Given the description of an element on the screen output the (x, y) to click on. 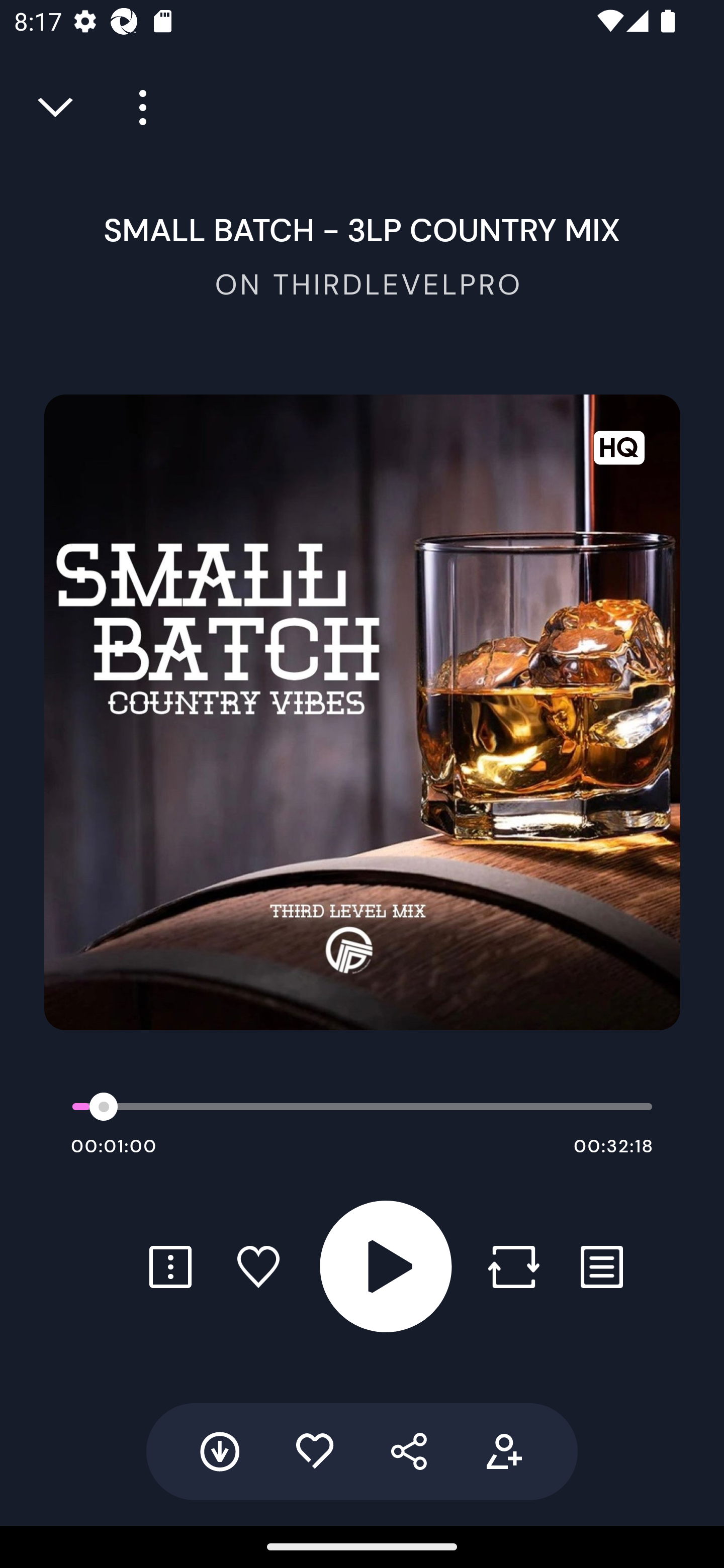
Close full player (57, 107)
Player more options button (136, 107)
Repost button (513, 1266)
